Given the description of an element on the screen output the (x, y) to click on. 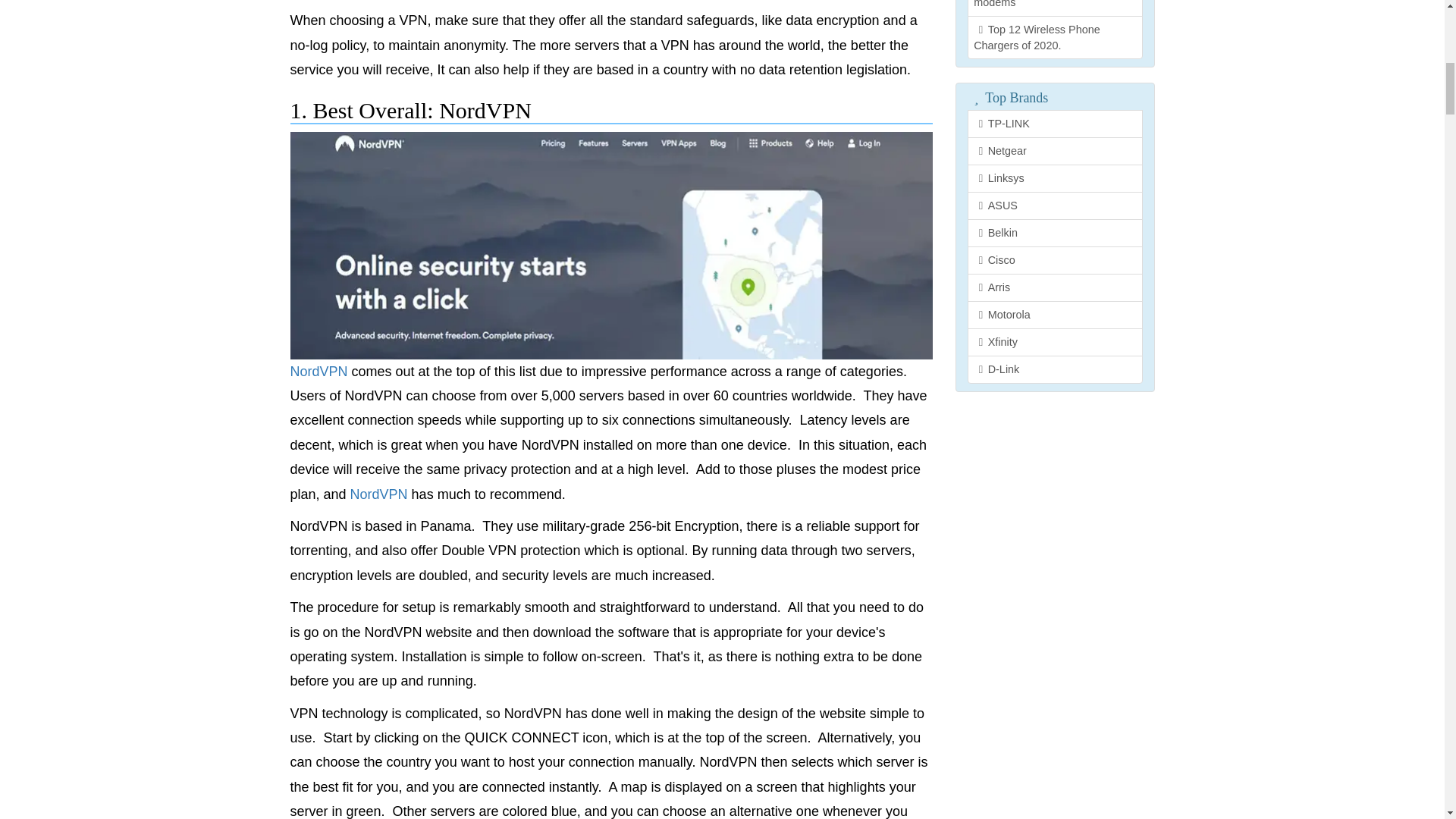
NordVPN (378, 494)
NordVPN (319, 371)
DMCA.com Protection Status (1054, 410)
